Given the description of an element on the screen output the (x, y) to click on. 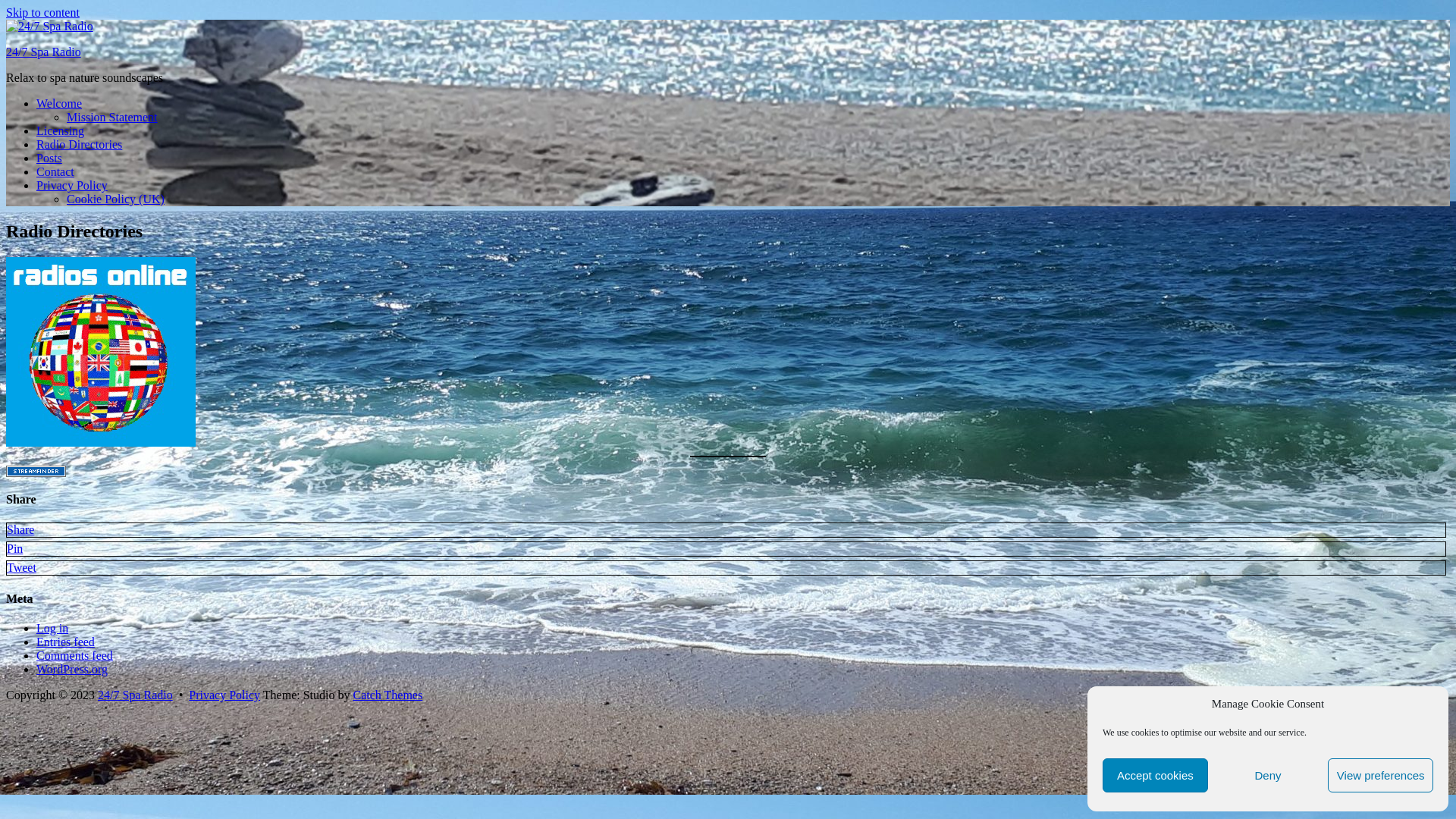
Pin Element type: text (14, 548)
Accept cookies Element type: text (1155, 775)
View preferences Element type: text (1380, 775)
WordPress.org Element type: text (71, 668)
Welcome Element type: text (58, 103)
24/7 Spa Radio Element type: text (134, 694)
Deny Element type: text (1268, 775)
24/7 Spa Radio Element type: text (43, 51)
Skip to content Element type: text (42, 12)
Comments feed Element type: text (74, 655)
streamfinder online radio guide Element type: hover (35, 469)
Privacy Policy Element type: text (224, 694)
Share Element type: text (20, 529)
Log in Element type: text (52, 627)
Catch Themes Element type: text (387, 694)
Licensing Element type: text (60, 130)
Mission Statement Element type: text (111, 116)
Cookie Policy (UK) Element type: text (115, 198)
Contact Element type: text (55, 171)
Privacy Policy Element type: text (71, 184)
Radio Directories Element type: text (79, 144)
Entries feed Element type: text (65, 641)
Posts Element type: text (49, 157)
Tweet Element type: text (21, 567)
